Given the description of an element on the screen output the (x, y) to click on. 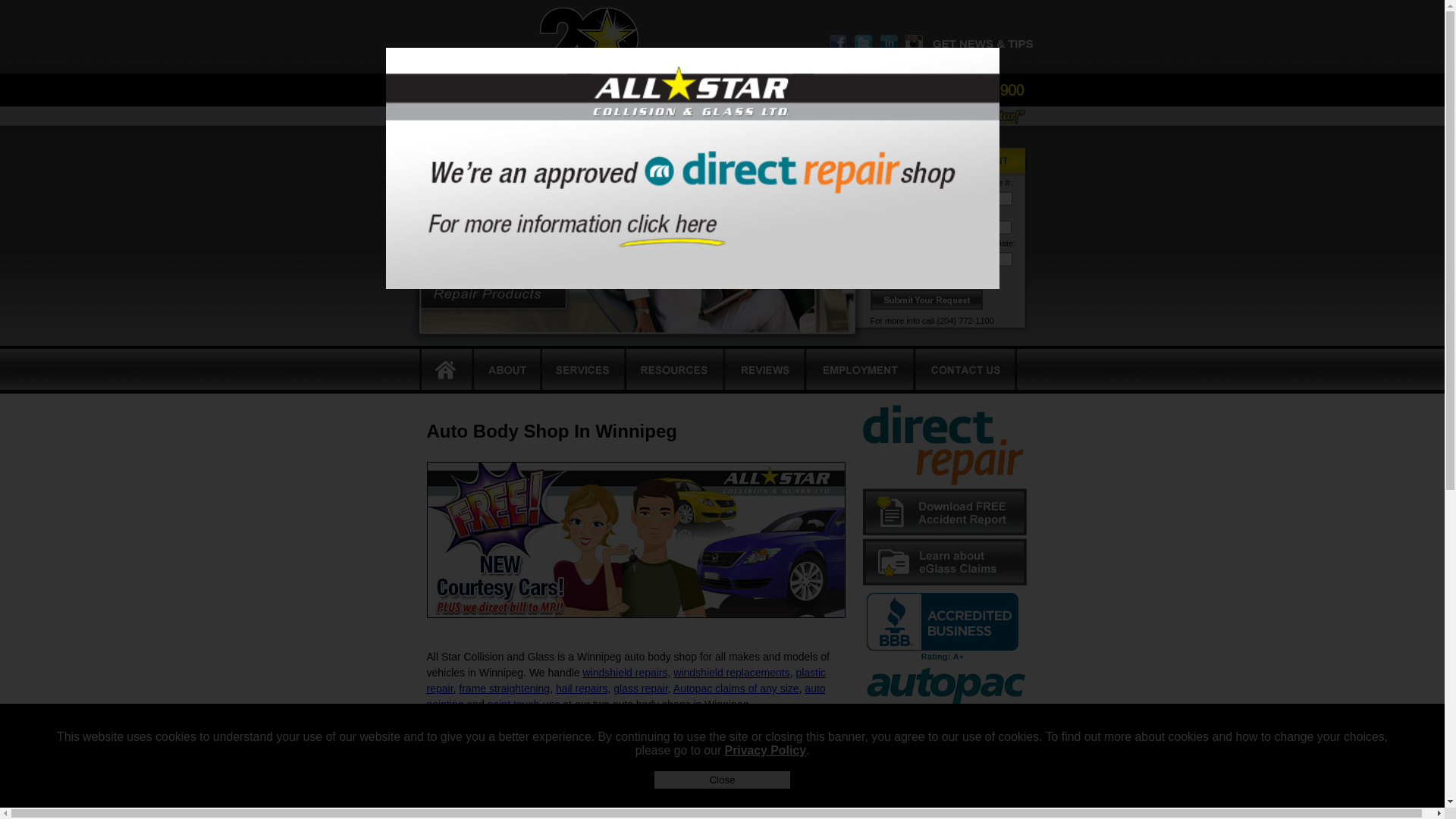
frame straightening Element type: text (503, 688)
About Element type: text (507, 369)
Home Element type: text (447, 369)
hail repairs Element type: text (581, 688)
Reviews Element type: text (765, 369)
Close Element type: text (722, 779)
Contact Us Element type: text (965, 369)
Privacy Policy Element type: text (765, 749)
windshield repairs Element type: text (624, 672)
paint touch-ups Element type: text (523, 704)
GET NEWS & TIPS Element type: text (982, 43)
glass repair Element type: text (640, 688)
I-Car Gold Class Element type: text (680, 730)
plastic repair Element type: text (625, 680)
auto painting Element type: text (625, 696)
Resources Element type: text (675, 369)
Employment Element type: text (859, 369)
windshield replacements Element type: text (731, 672)
Autopac claims of any size Element type: text (736, 688)
Services Element type: text (583, 369)
